Given the description of an element on the screen output the (x, y) to click on. 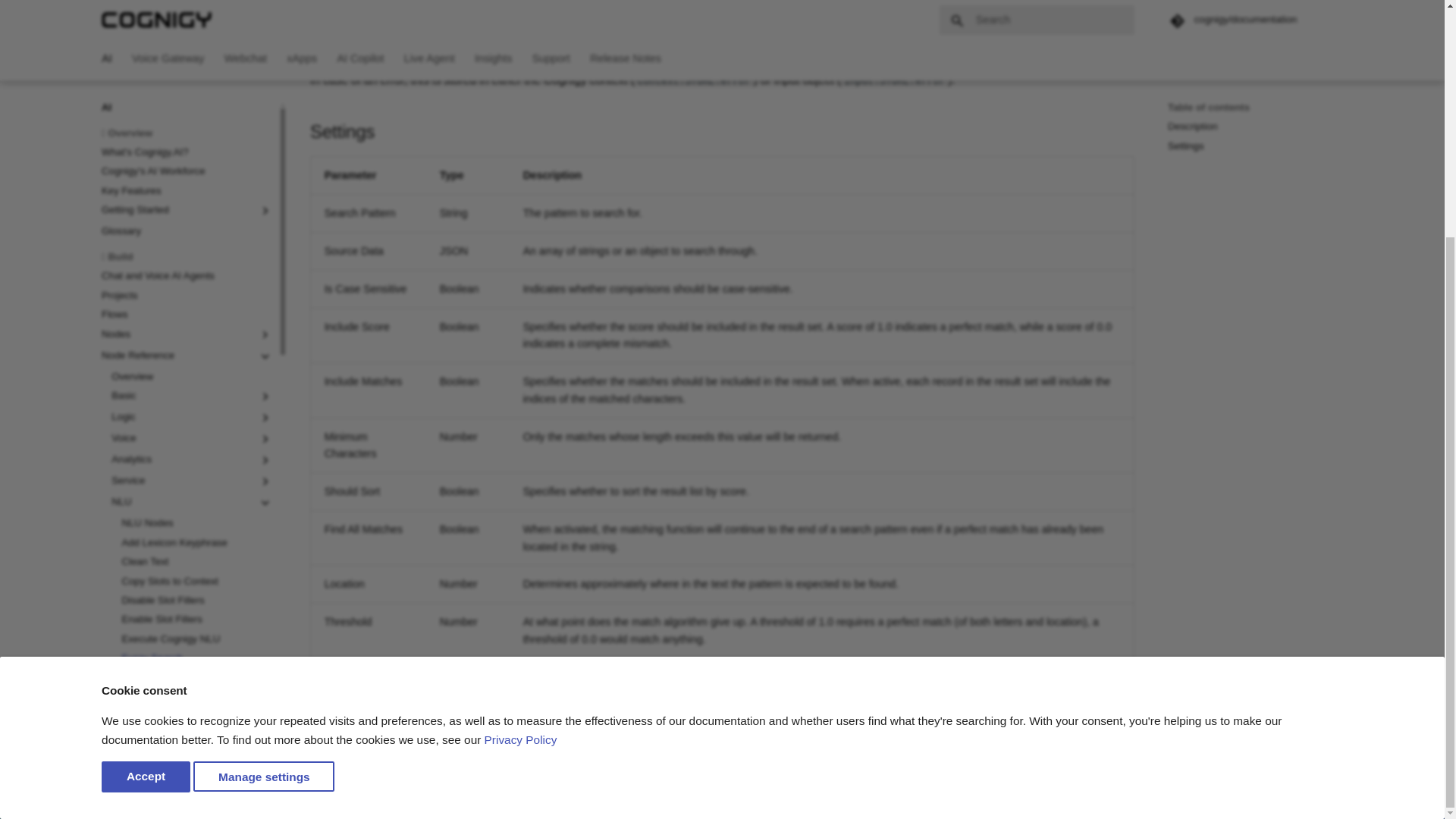
Projects (186, 1)
Flows (186, 15)
Cognigy on YouTube (1254, 237)
Overview (1332, 792)
Cognigy on Facebook (192, 77)
Cognigy on Twitter (1241, 792)
Cognigy on GitHub (1212, 792)
Cognigy on LinkedIn (1272, 792)
